Given the description of an element on the screen output the (x, y) to click on. 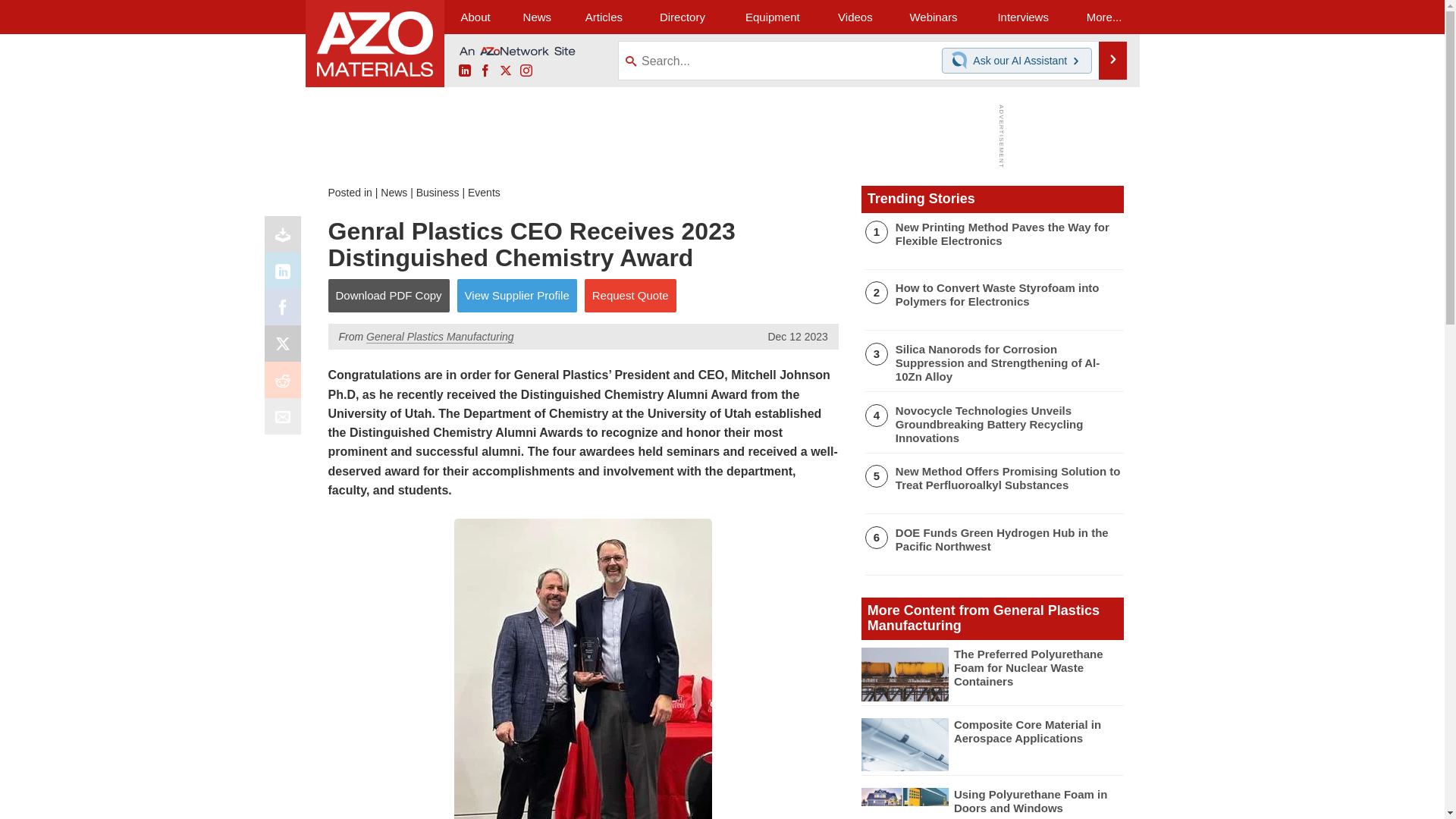
Facebook (485, 71)
Chat with our AI Assistant Ask our AI Assistant (1017, 60)
News (536, 17)
X (285, 348)
LinkedIn (285, 275)
More... (1104, 17)
Chat with our AI Assistant (962, 60)
Download PDF copy (285, 238)
Reddit (285, 384)
About (475, 17)
